Given the description of an element on the screen output the (x, y) to click on. 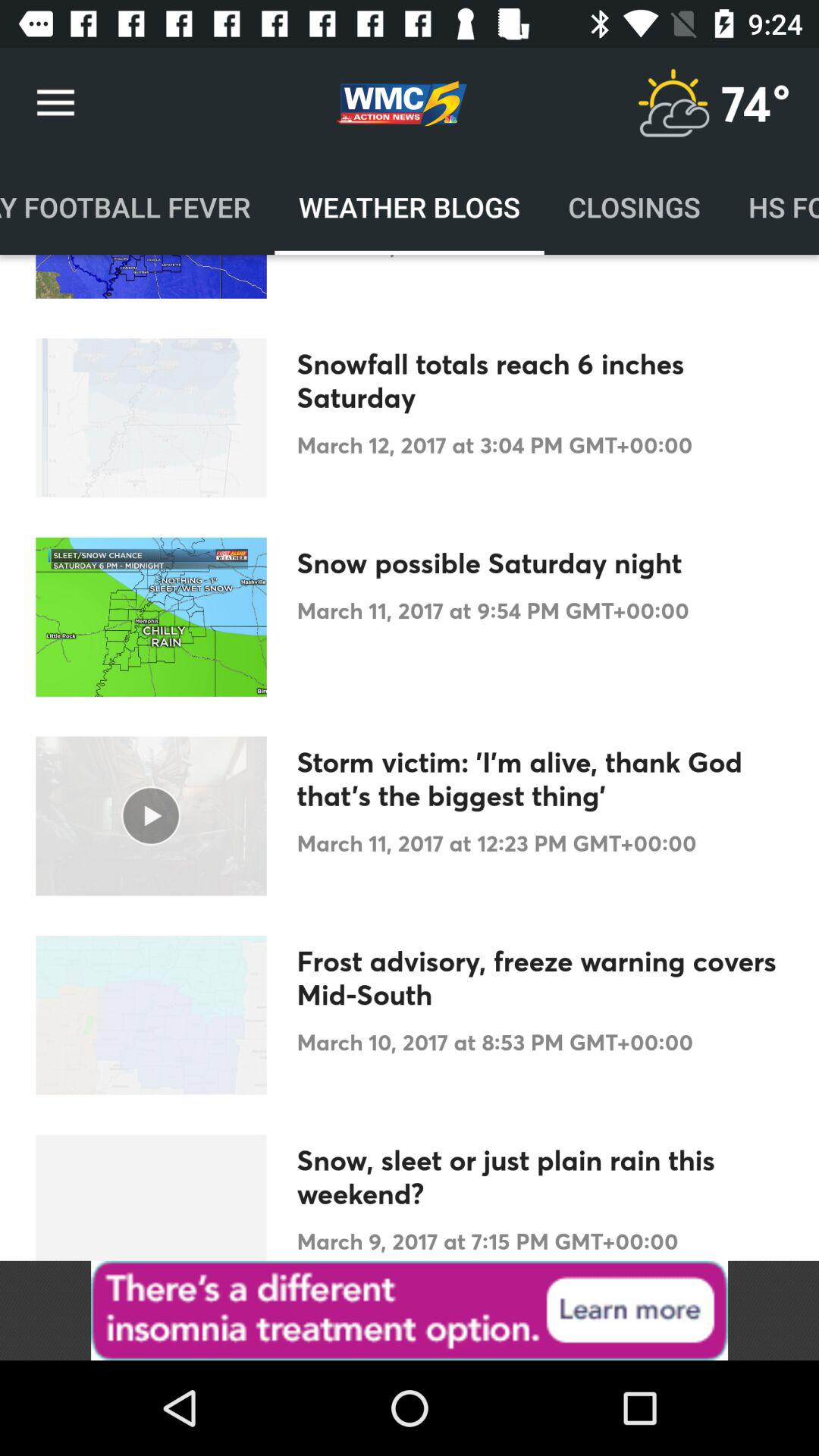
select weather (673, 103)
